Given the description of an element on the screen output the (x, y) to click on. 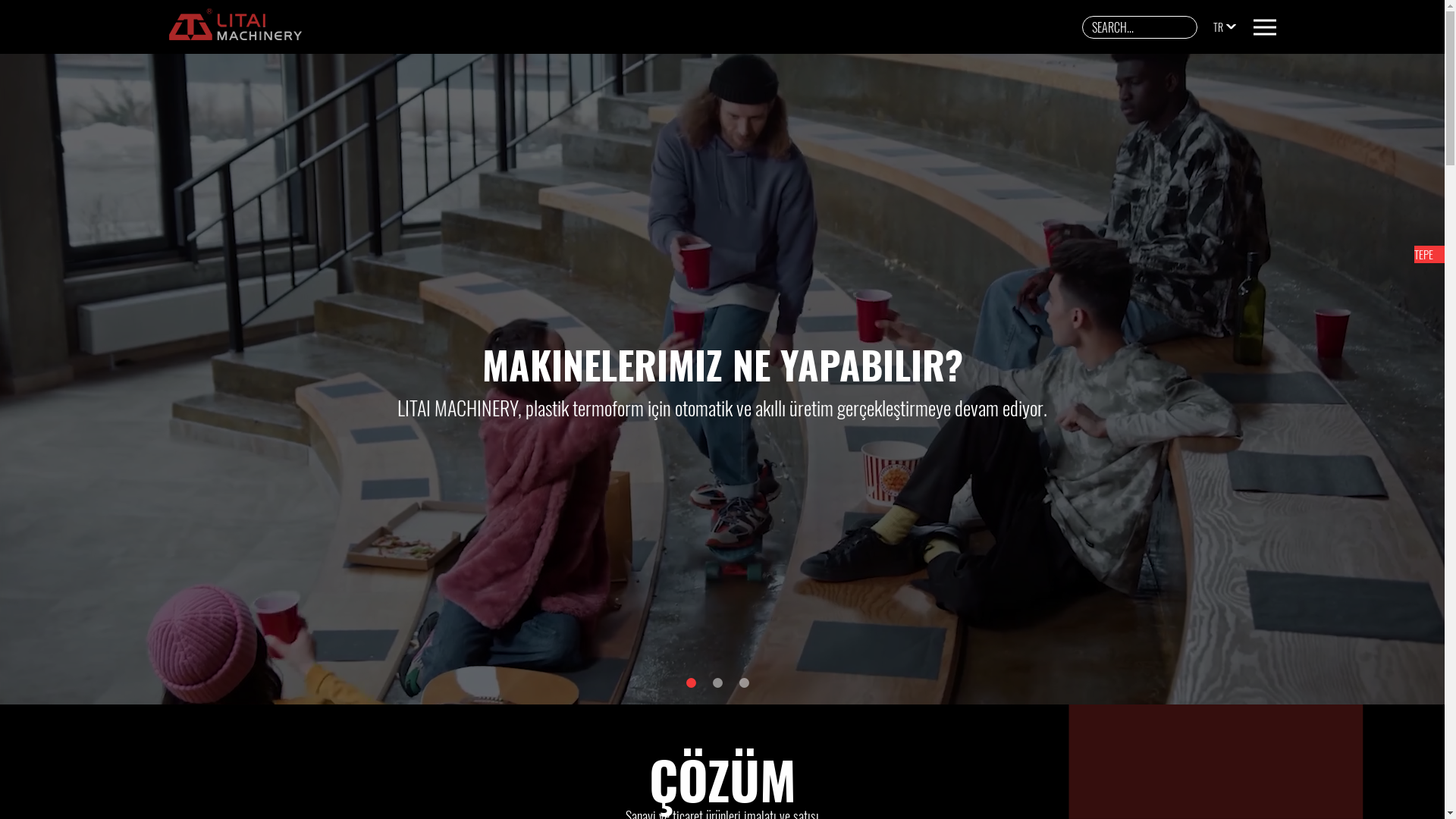
3 Element type: text (744, 682)
2 Element type: text (717, 682)
1 Element type: text (691, 682)
